Given the description of an element on the screen output the (x, y) to click on. 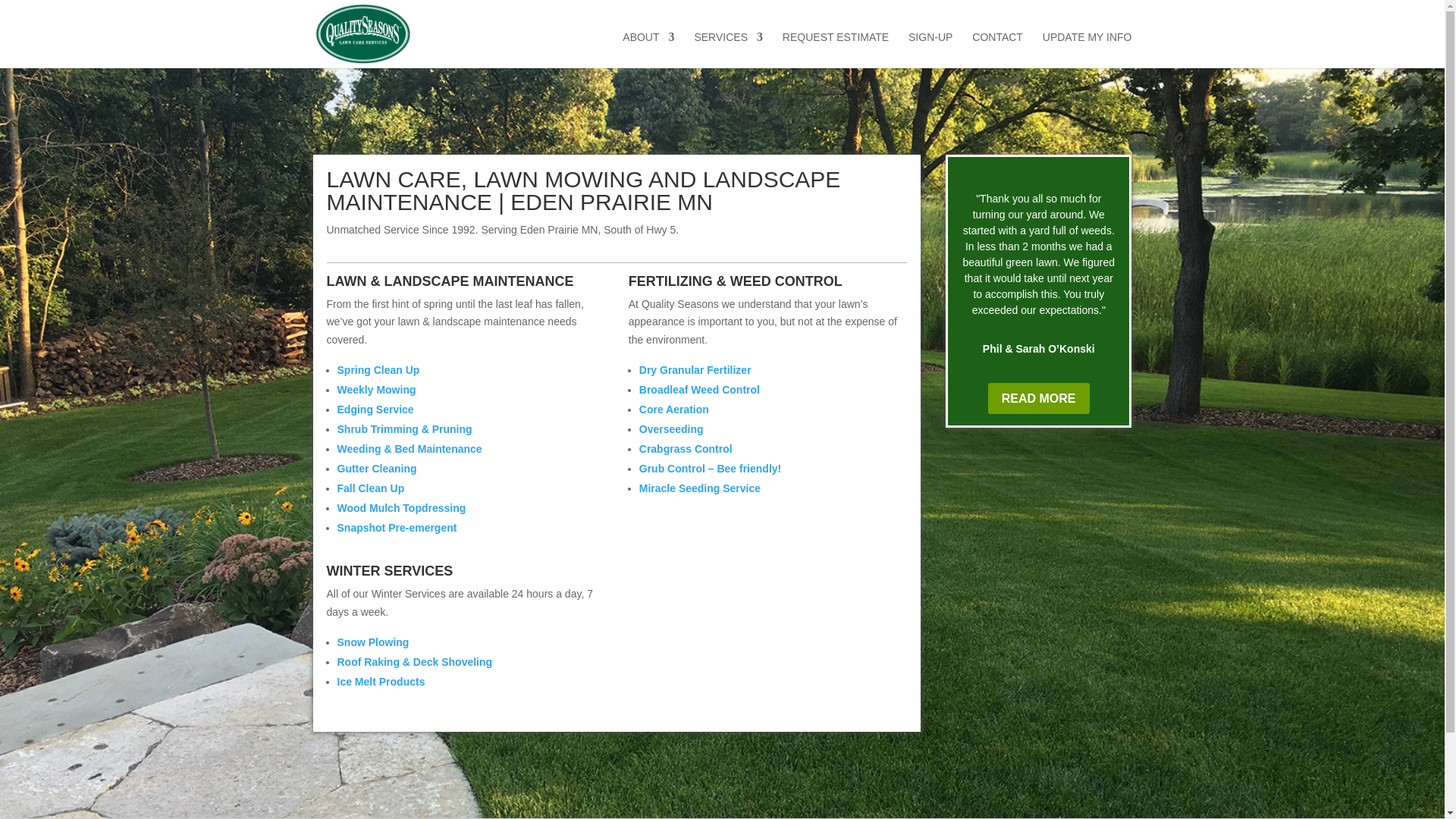
UPDATE MY INFO (1087, 49)
REQUEST ESTIMATE (835, 49)
CONTACT (997, 49)
ABOUT (648, 49)
SIGN-UP (930, 49)
SERVICES (728, 49)
